Given the description of an element on the screen output the (x, y) to click on. 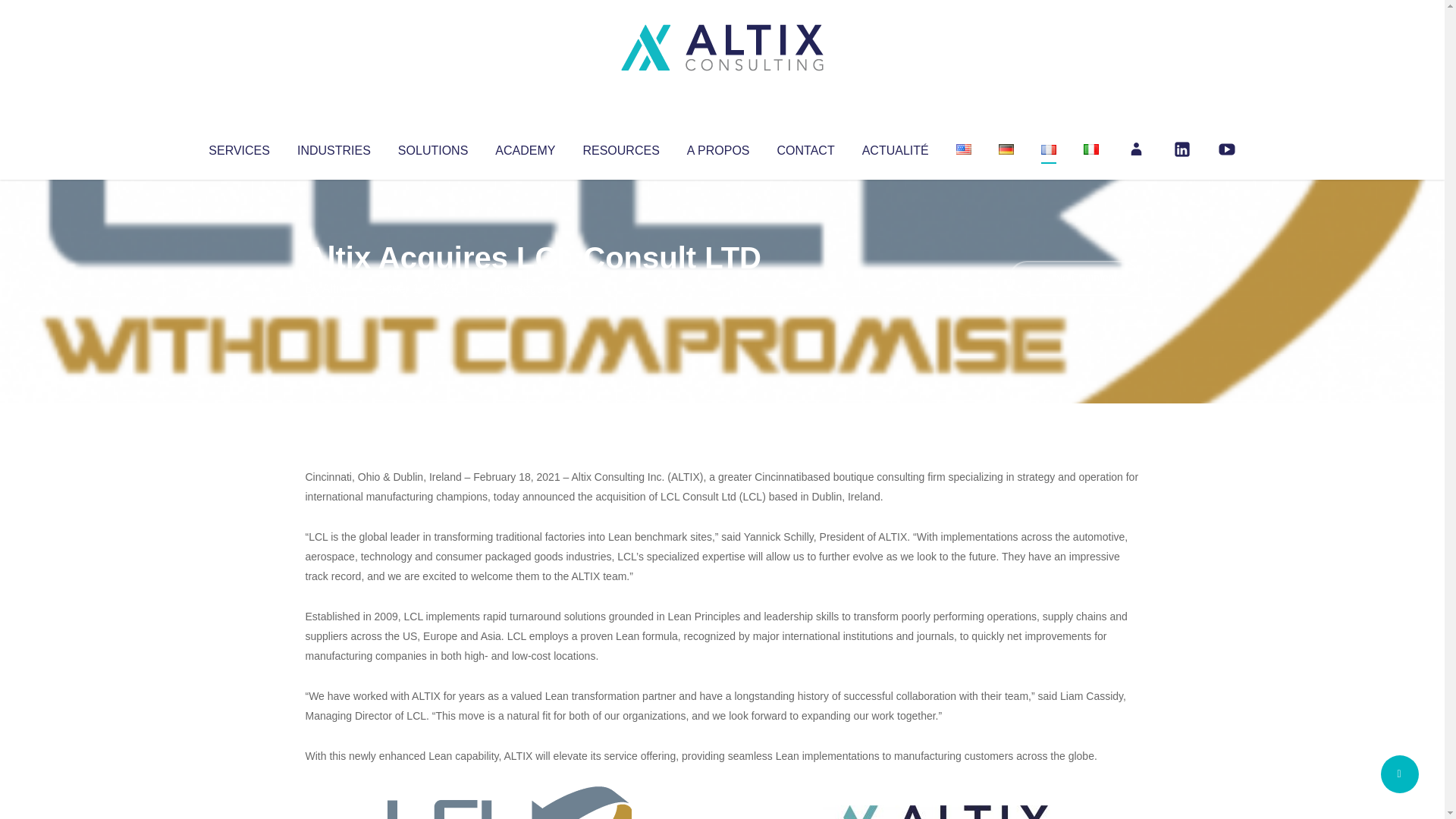
SOLUTIONS (432, 146)
SERVICES (238, 146)
RESOURCES (620, 146)
Uncategorized (530, 287)
Articles par Altix (333, 287)
A PROPOS (718, 146)
INDUSTRIES (334, 146)
ACADEMY (524, 146)
No Comments (1073, 278)
Altix (333, 287)
